Given the description of an element on the screen output the (x, y) to click on. 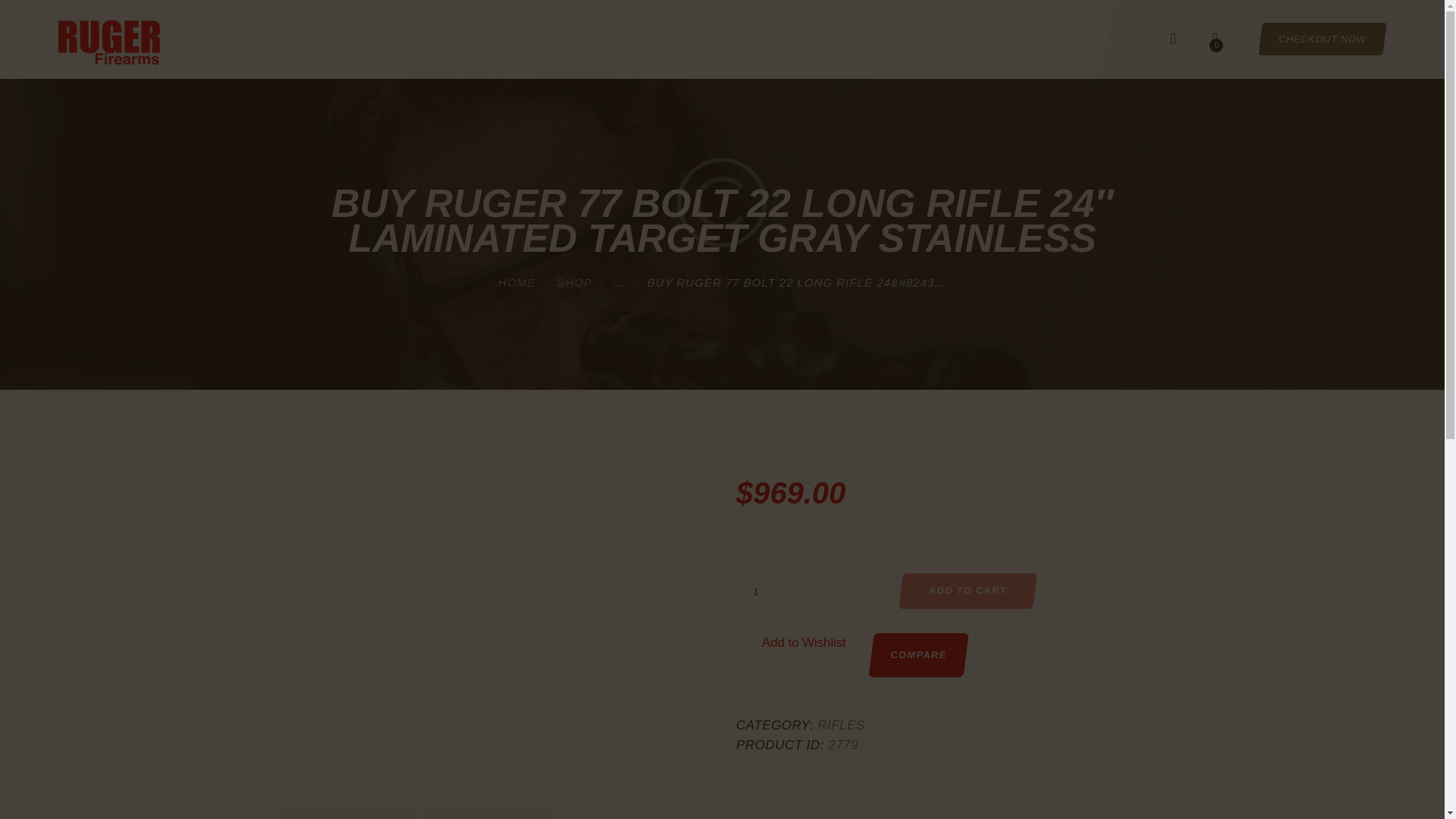
CHECKOUT NOW (1321, 38)
ADD TO CART (966, 591)
Add to Wishlist (804, 641)
SHOP (574, 282)
HOME (516, 281)
1 (809, 591)
Qty (809, 591)
